Given the description of an element on the screen output the (x, y) to click on. 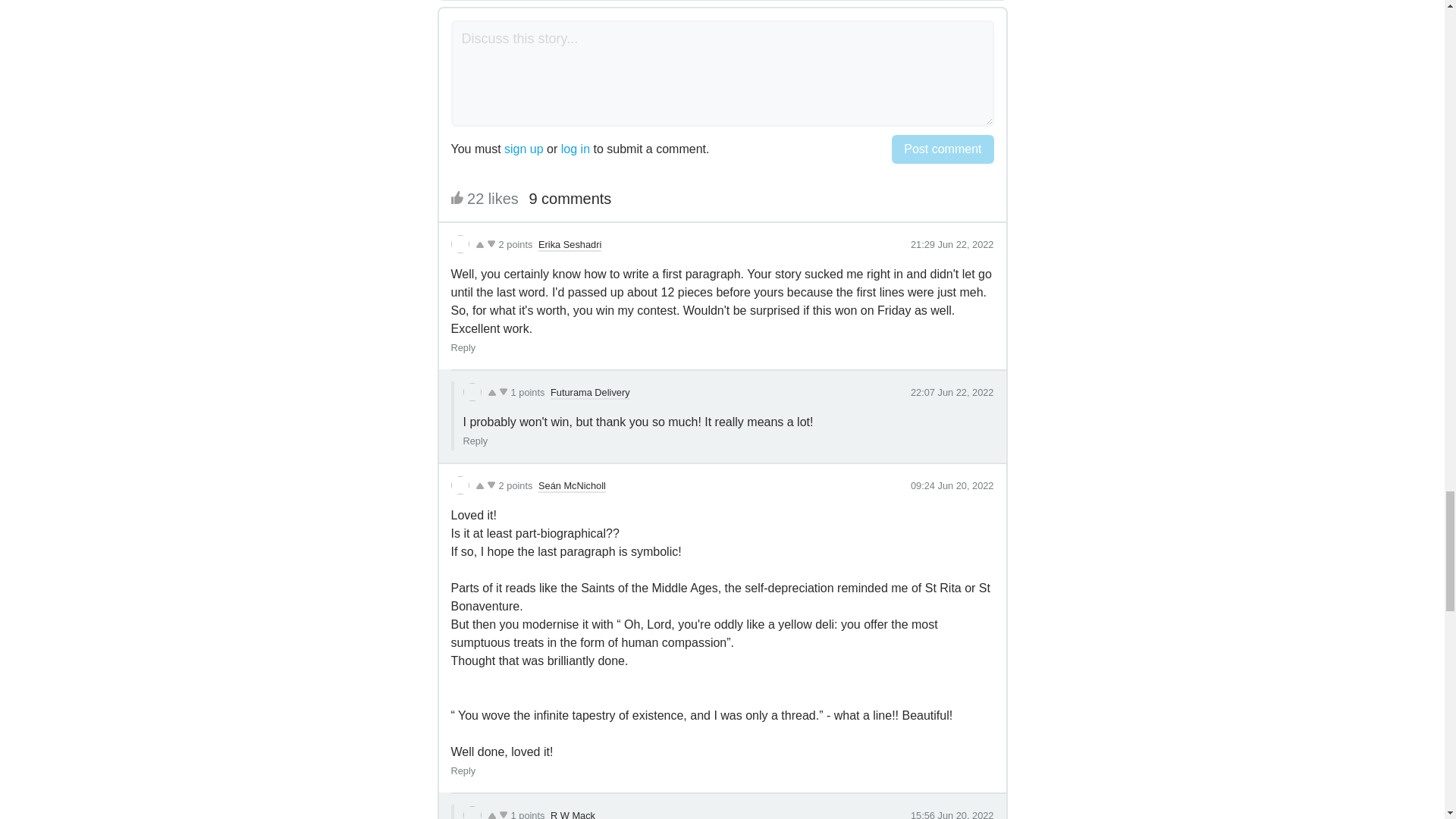
Post comment (941, 149)
